Given the description of an element on the screen output the (x, y) to click on. 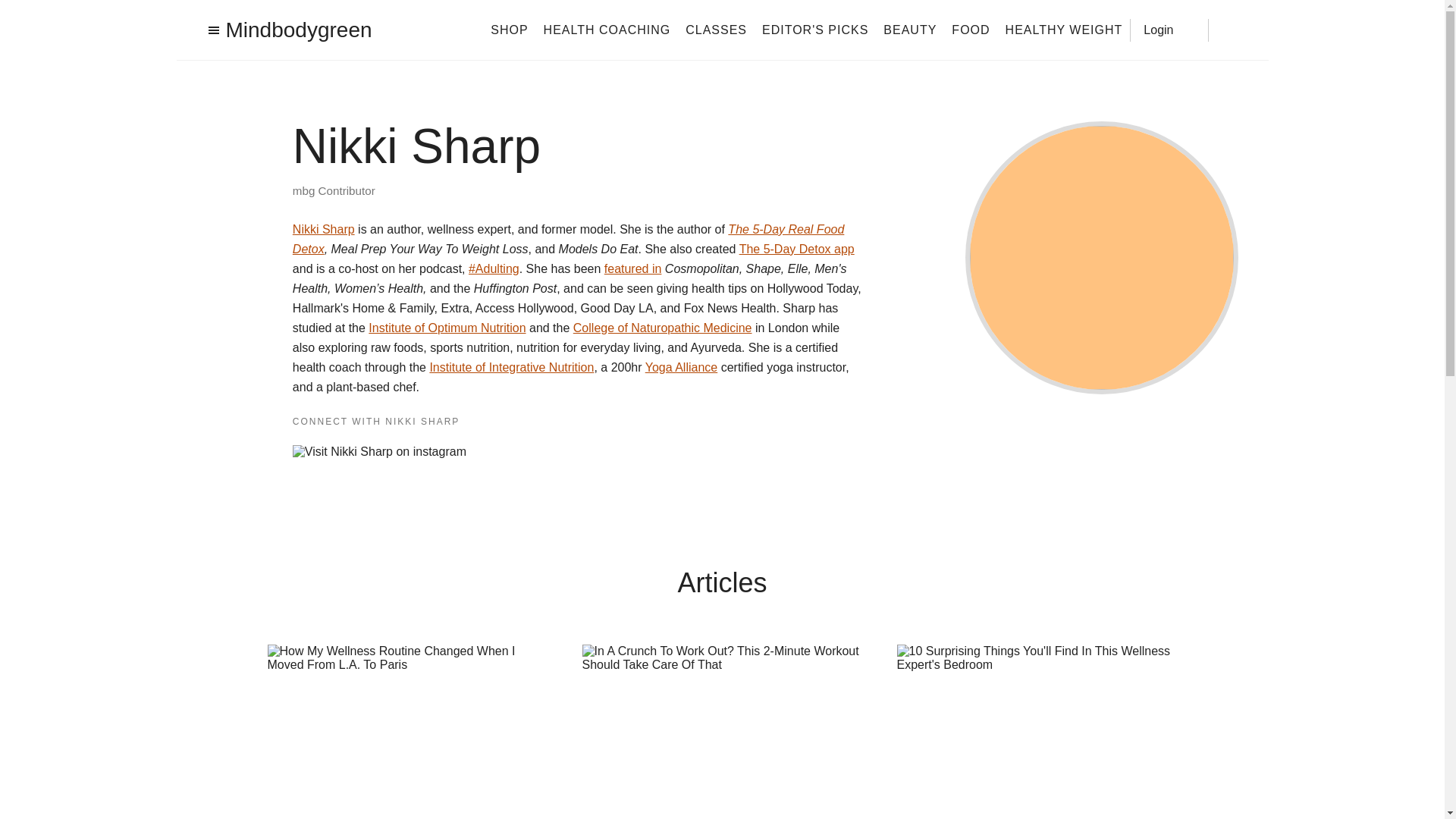
College of Naturopathic Medicine (662, 327)
Search (1230, 29)
Visit Nikki Sharp on twitter (526, 450)
HEALTH COACHING (607, 29)
SHOP (508, 29)
featured in (633, 268)
Login (1168, 29)
Institute of Integrative Nutrition (511, 367)
The 5-Day Detox app (796, 248)
BEAUTY (909, 29)
Visit Nikki Sharp on facebook (482, 451)
Visit Nikki Sharp on facebook (491, 450)
Visit Nikki Sharp on website (551, 452)
EDITOR'S PICKS (814, 29)
HEALTHY WEIGHT (1064, 29)
